Given the description of an element on the screen output the (x, y) to click on. 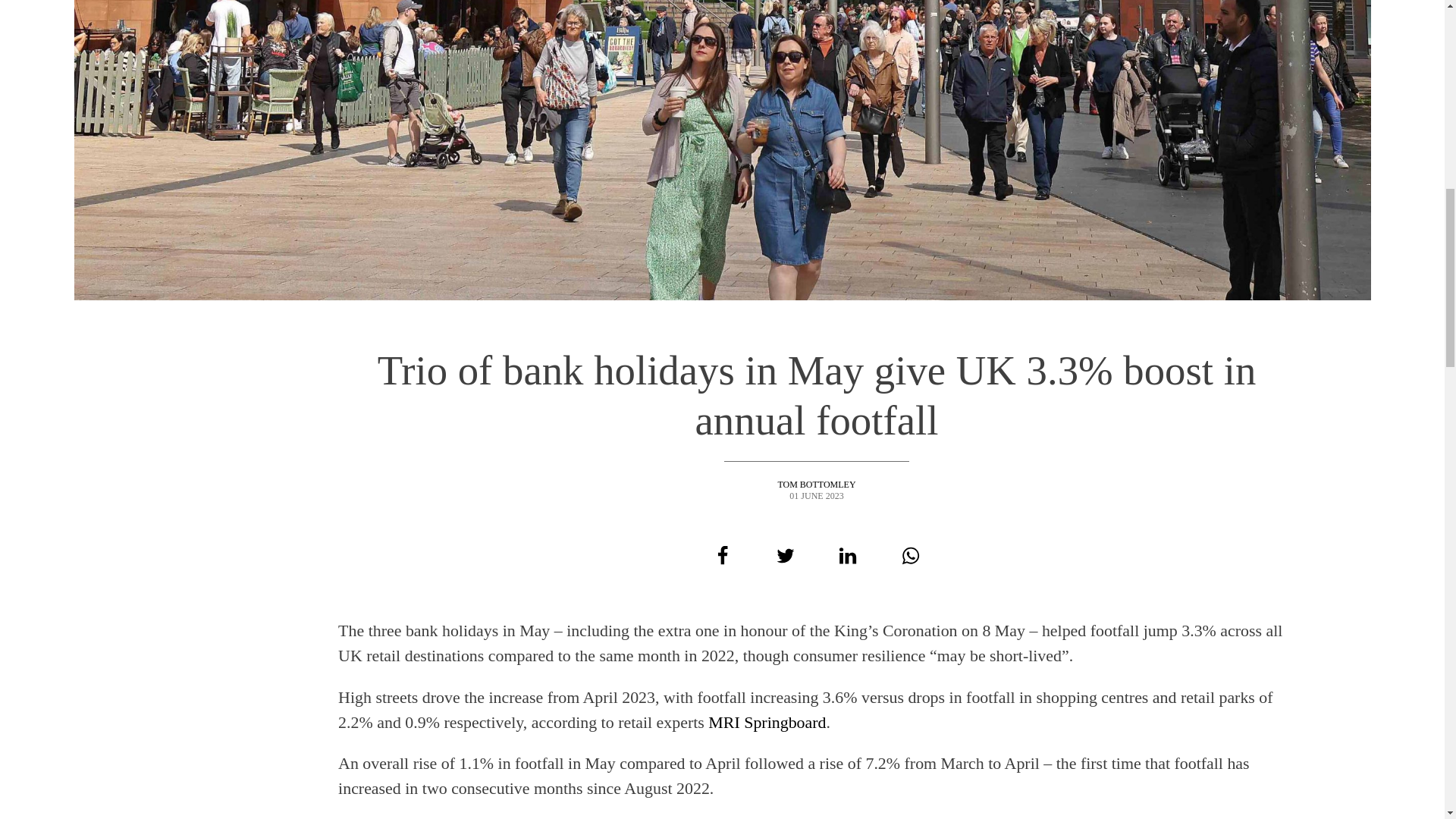
MRI Springboard (766, 722)
